Given the description of an element on the screen output the (x, y) to click on. 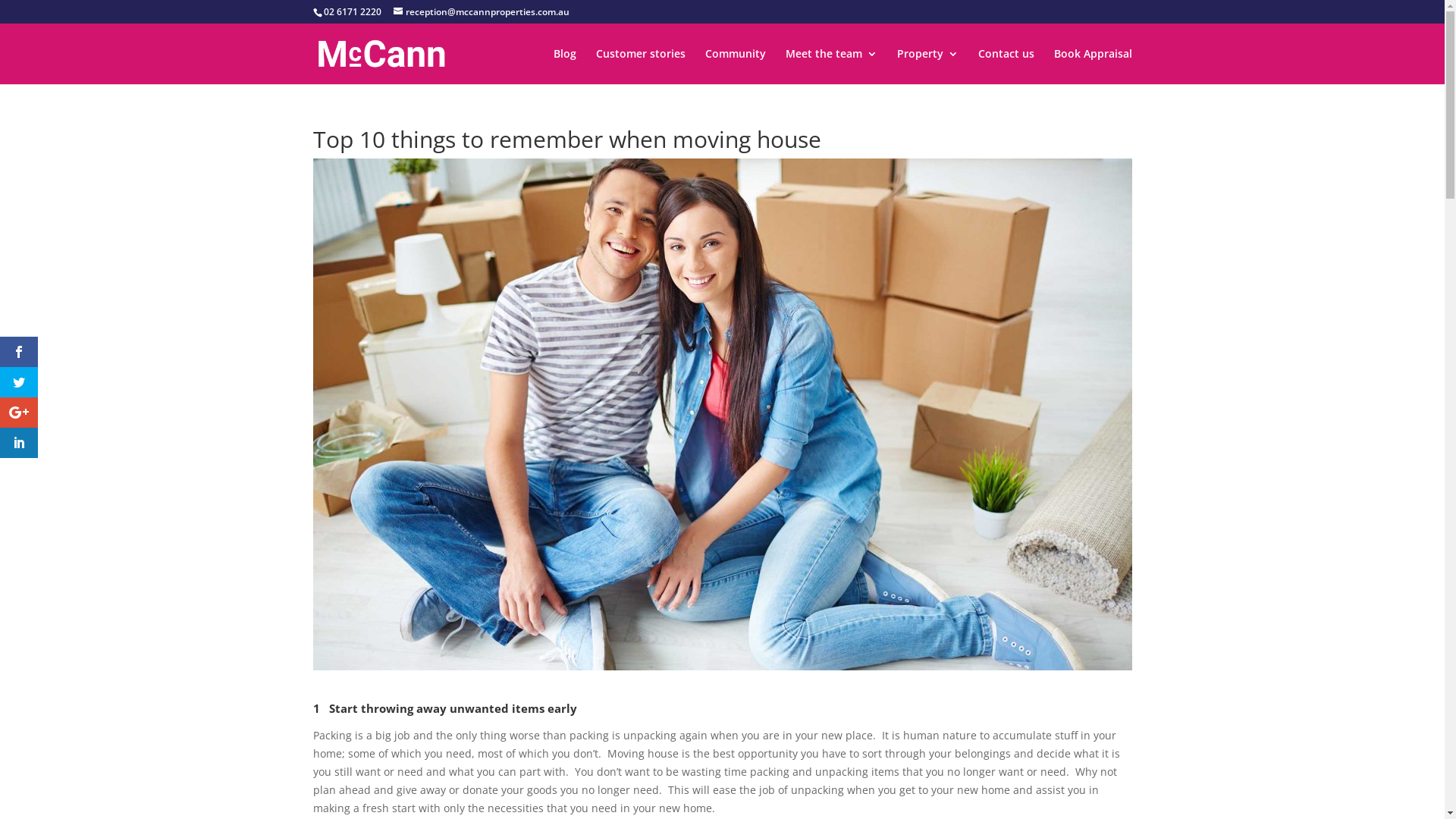
Blog Element type: text (564, 66)
Property Element type: text (926, 66)
Book Appraisal Element type: text (1093, 66)
Meet the team Element type: text (831, 66)
Customer stories Element type: text (640, 66)
reception@mccannproperties.com.au Element type: text (480, 11)
Community Element type: text (735, 66)
Contact us Element type: text (1006, 66)
